Given the description of an element on the screen output the (x, y) to click on. 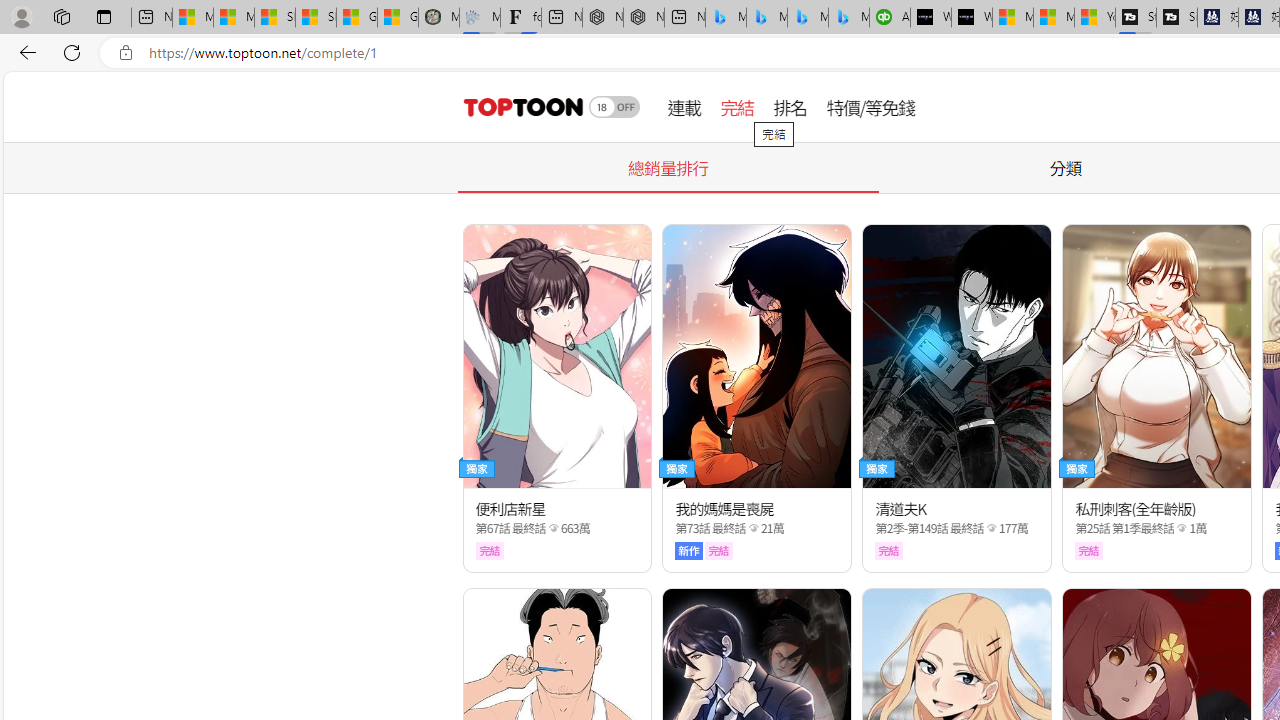
Accounting Software for Accountants, CPAs and Bookkeepers (890, 17)
